Given the description of an element on the screen output the (x, y) to click on. 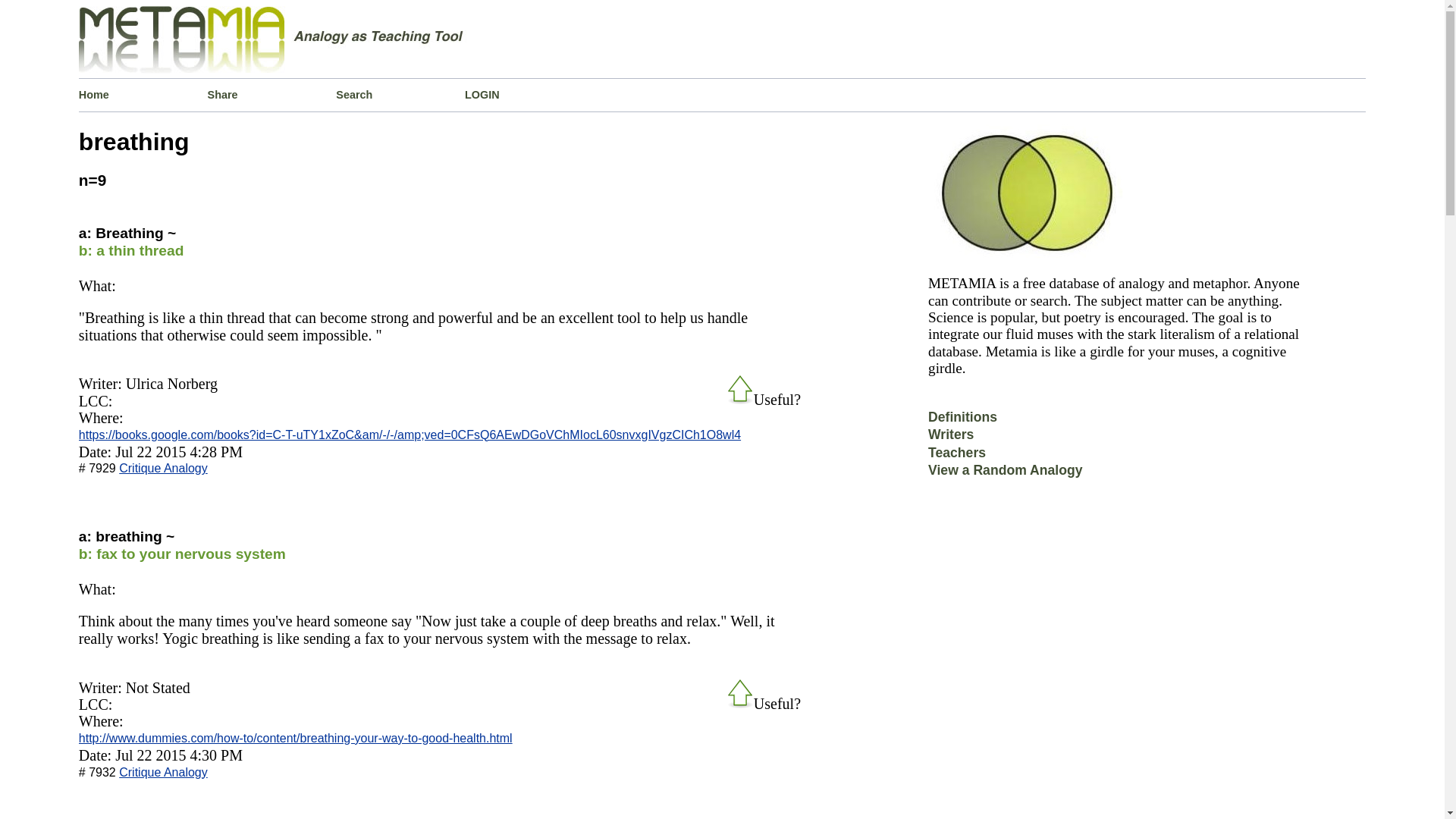
Writers (951, 439)
Critique Analogy (163, 771)
Search (400, 94)
Teachers (956, 458)
LOGIN (529, 94)
Critique Analogy (163, 468)
View a Random Analogy (1004, 475)
Definitions (962, 422)
Share (272, 94)
Home (143, 94)
